Given the description of an element on the screen output the (x, y) to click on. 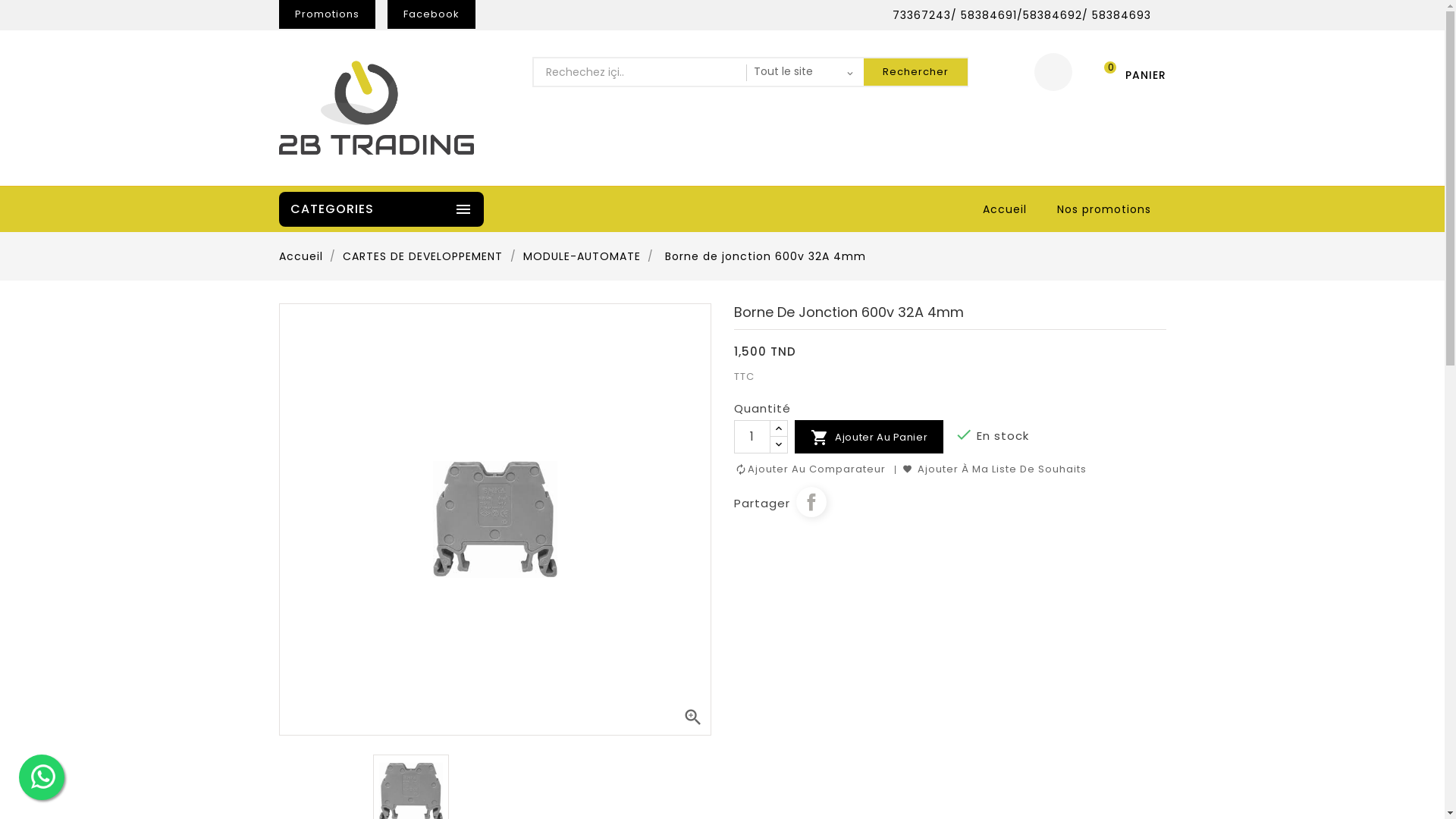
MODULE-AUTOMATE Element type: text (583, 255)
Rechercher Element type: text (914, 71)
Ajouter Au Comparateur Element type: text (810, 469)
Borne de jonction 600v 32A 4mm Element type: text (765, 255)
Accueil Element type: text (302, 255)
Partager Element type: text (811, 501)
CARTES DE DEVELOPPEMENT Element type: text (424, 255)
Accueil Element type: text (1004, 208)
Facebook Element type: text (430, 14)
Nos promotions Element type: text (1103, 208)
Promotions Element type: text (327, 14)
PANIER
0 Element type: text (1127, 72)
